Given the description of an element on the screen output the (x, y) to click on. 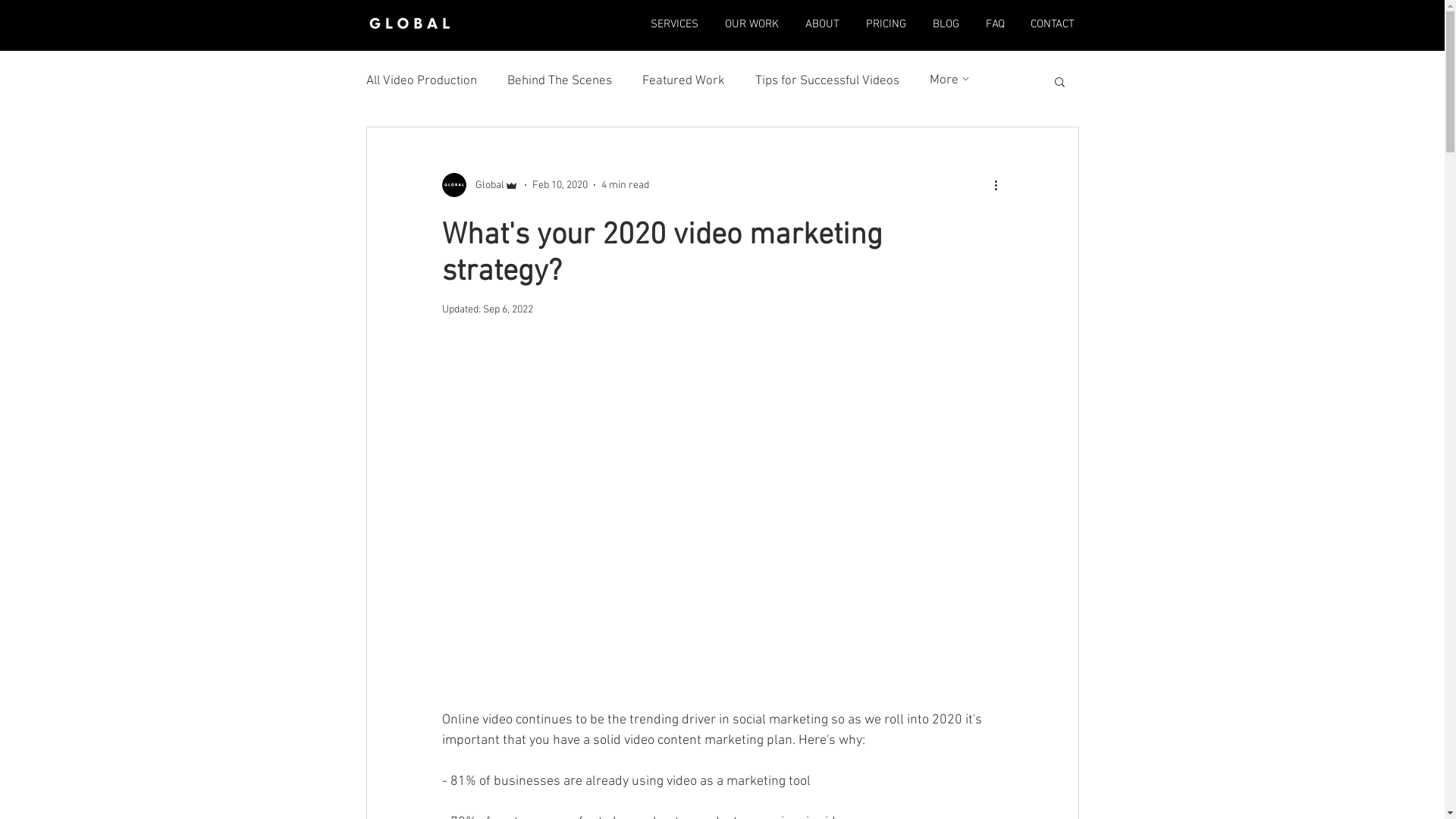
FAQ Element type: text (994, 24)
Featured Work Element type: text (682, 80)
Tips for Successful Videos Element type: text (827, 80)
OUR WORK Element type: text (751, 24)
All Video Production Element type: text (420, 80)
Behind The Scenes Element type: text (558, 80)
BLOG Element type: text (945, 24)
CONTACT Element type: text (1052, 24)
SERVICES Element type: text (674, 24)
ABOUT Element type: text (821, 24)
Global Element type: text (479, 184)
PRICING Element type: text (885, 24)
